Given the description of an element on the screen output the (x, y) to click on. 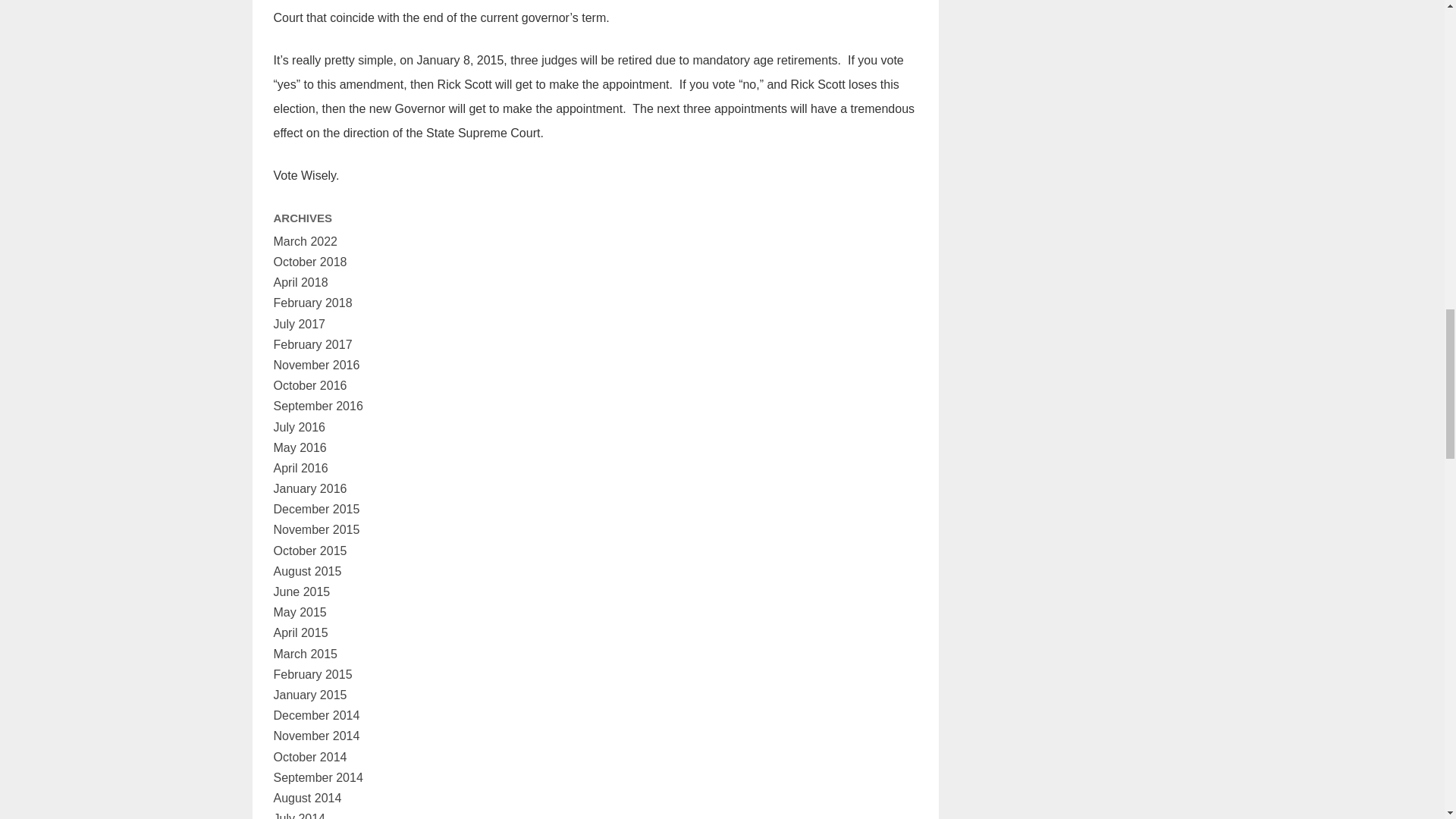
October 2014 (309, 757)
March 2022 (305, 241)
October 2018 (309, 261)
December 2015 (316, 508)
November 2014 (316, 735)
August 2014 (306, 797)
March 2015 (305, 653)
May 2015 (299, 612)
April 2016 (300, 468)
February 2017 (312, 344)
